Given the description of an element on the screen output the (x, y) to click on. 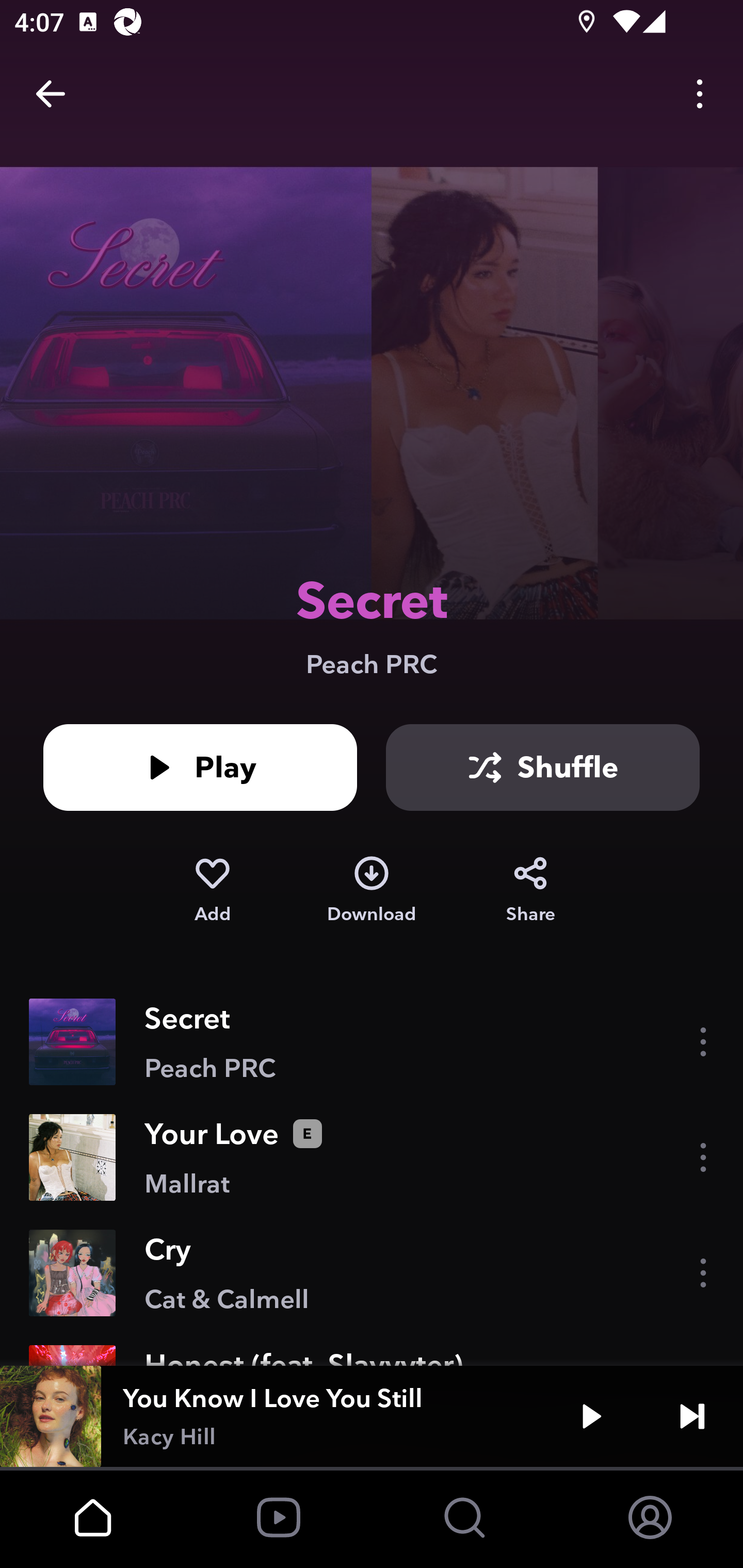
Options (699, 93)
Play (200, 767)
Shuffle (542, 767)
Add (211, 890)
Download (371, 890)
Share (530, 890)
Secret Peach PRC (371, 1041)
Your Love Mallrat (371, 1157)
Cry Cat & Calmell (371, 1273)
You Know I Love You Still Kacy Hill Play (371, 1416)
Play (590, 1416)
